Given the description of an element on the screen output the (x, y) to click on. 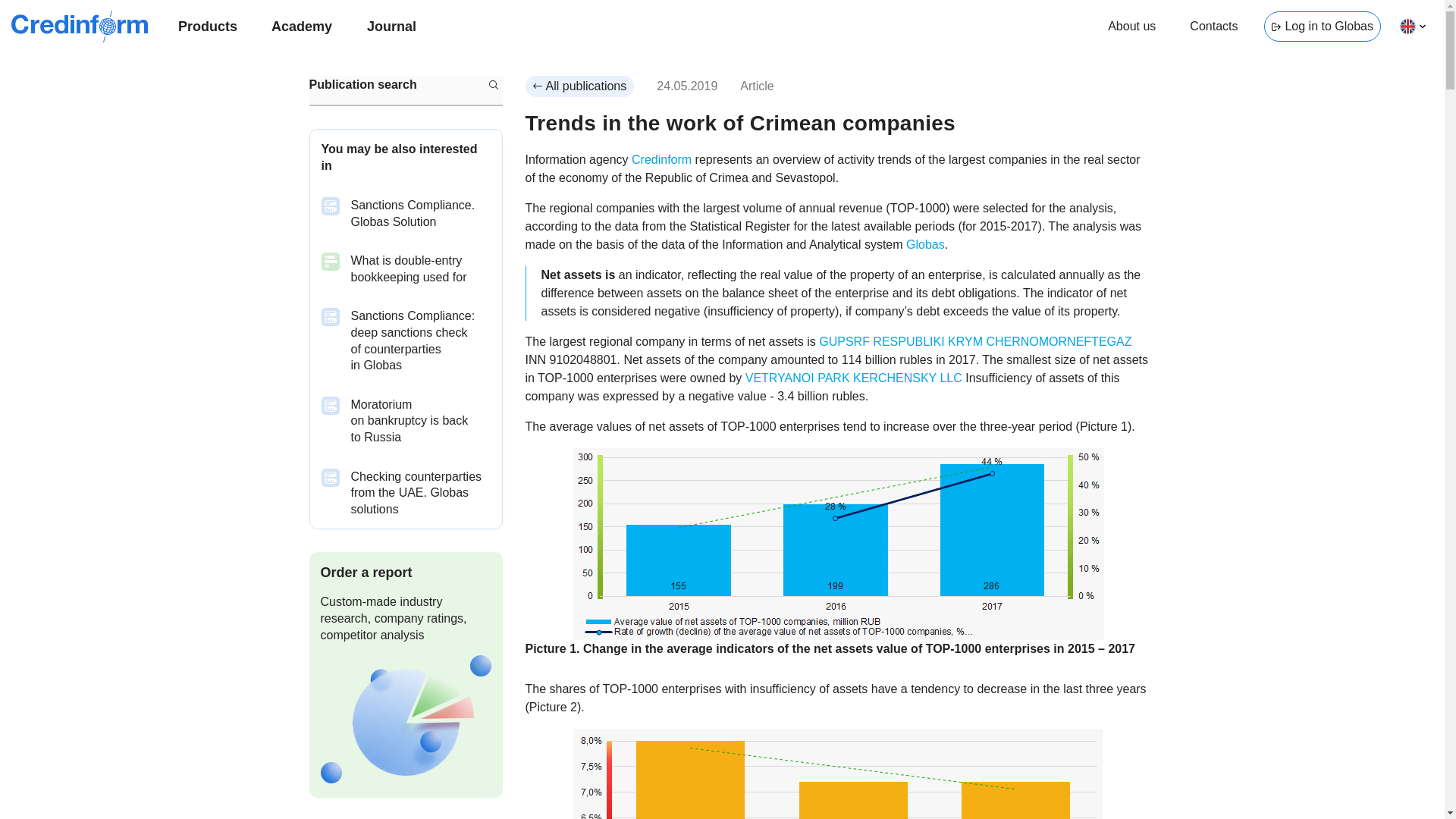
About us (1131, 26)
Contacts (1213, 26)
All publications (578, 86)
Sanctions Compliance. Globas Solution (404, 212)
Log in to Globas (1321, 26)
Checking counterparties from the UAE. Globas solutions (404, 493)
Journal (391, 26)
VETRYANOI PARK KERCHENSKY LLC (855, 377)
Globas (924, 244)
